Given the description of an element on the screen output the (x, y) to click on. 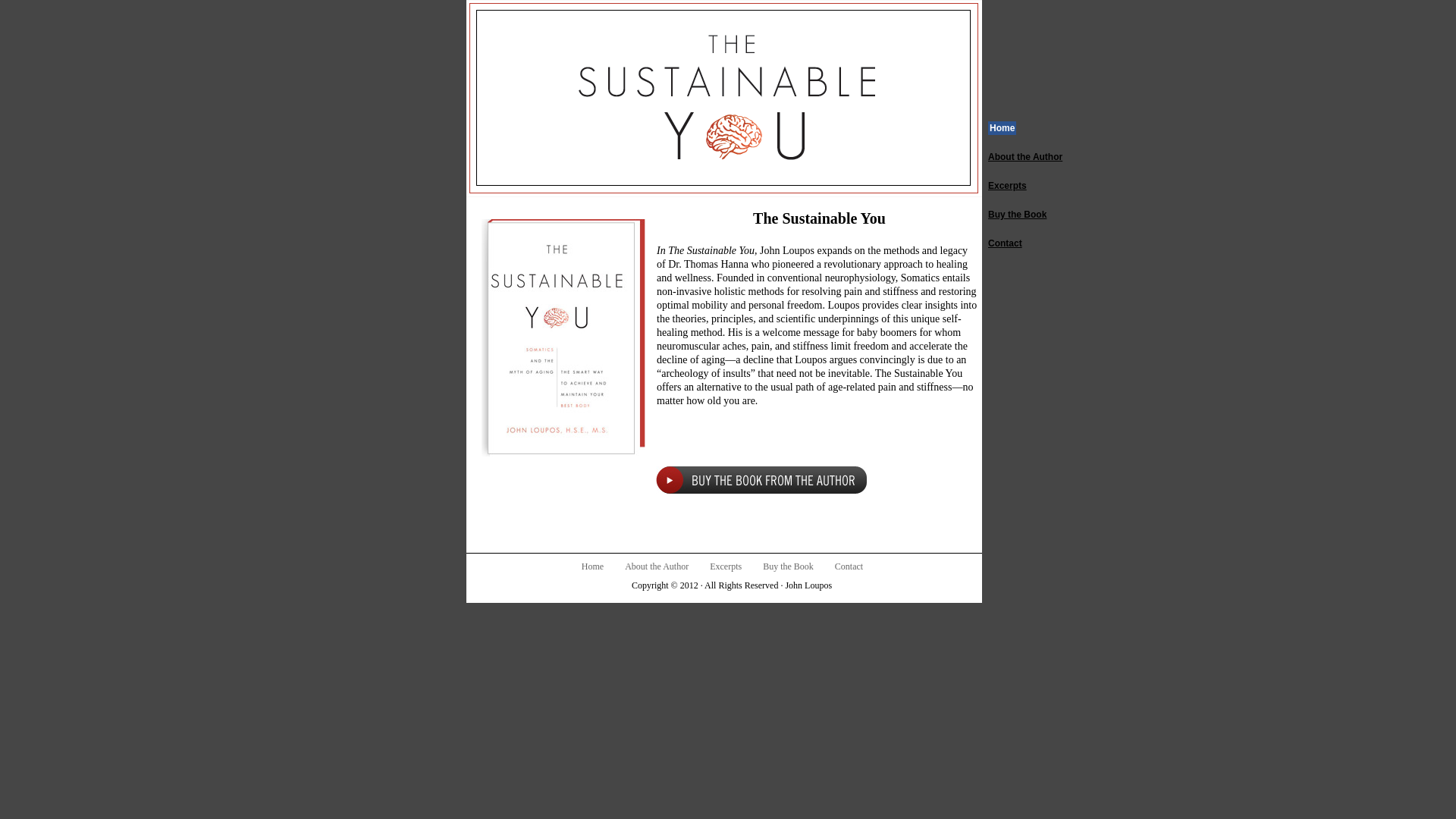
Excerpts (725, 566)
Home (592, 566)
Excerpts (1007, 185)
Buy the Book (1017, 214)
Home (1002, 128)
Buy the Book (787, 566)
About the Author (1025, 156)
buyauthor (761, 479)
Contact (1005, 243)
Contact (848, 566)
About the Author (656, 566)
